Given the description of an element on the screen output the (x, y) to click on. 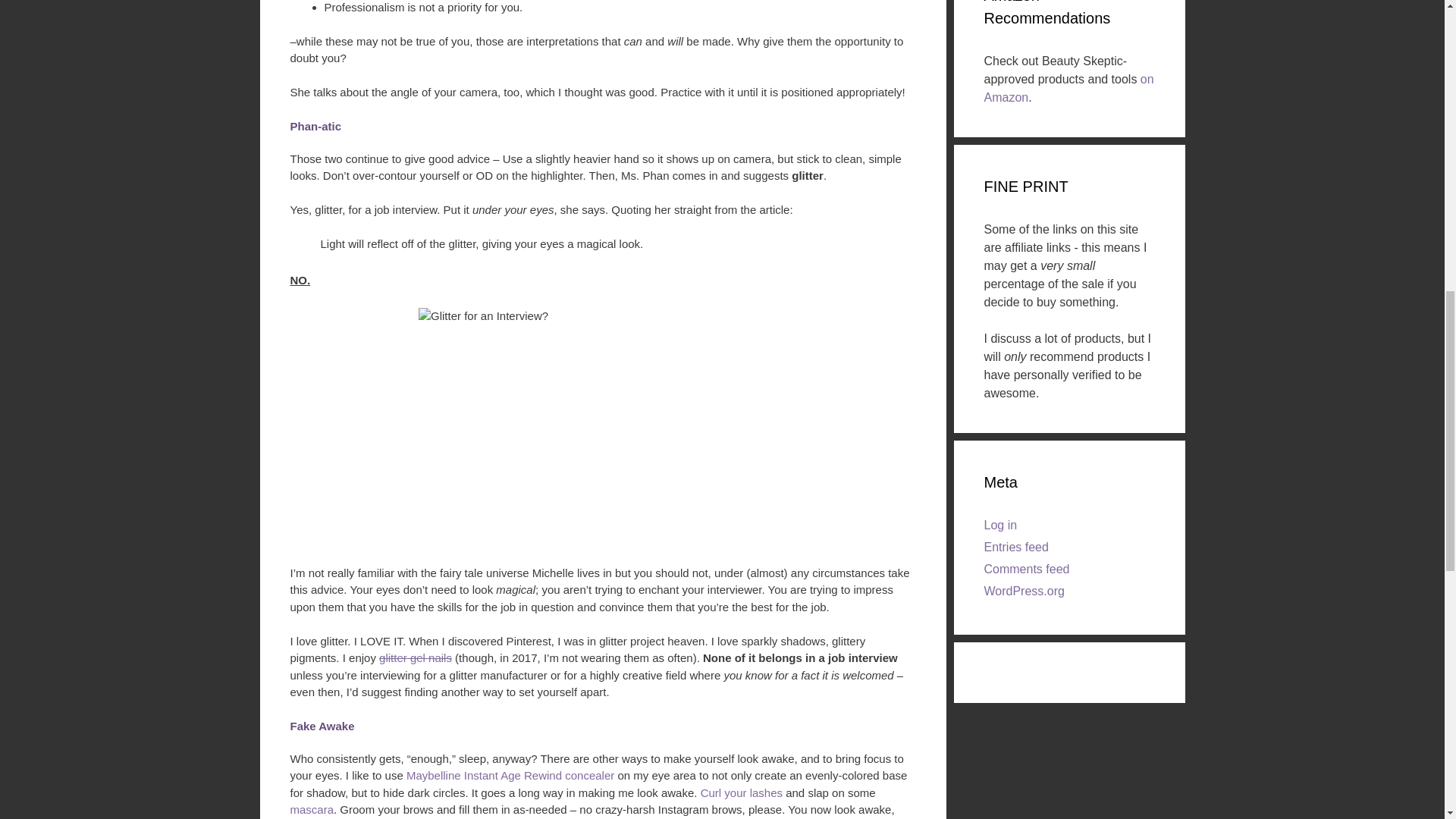
Curl your lashes (741, 792)
Comments feed (1027, 568)
Entries feed (1016, 546)
mascara (311, 809)
glitter gel nails (414, 657)
Log in (1000, 524)
WordPress.org (1024, 590)
Maybelline Instant Age Rewind concealer (510, 775)
on Amazon (1069, 88)
